Given the description of an element on the screen output the (x, y) to click on. 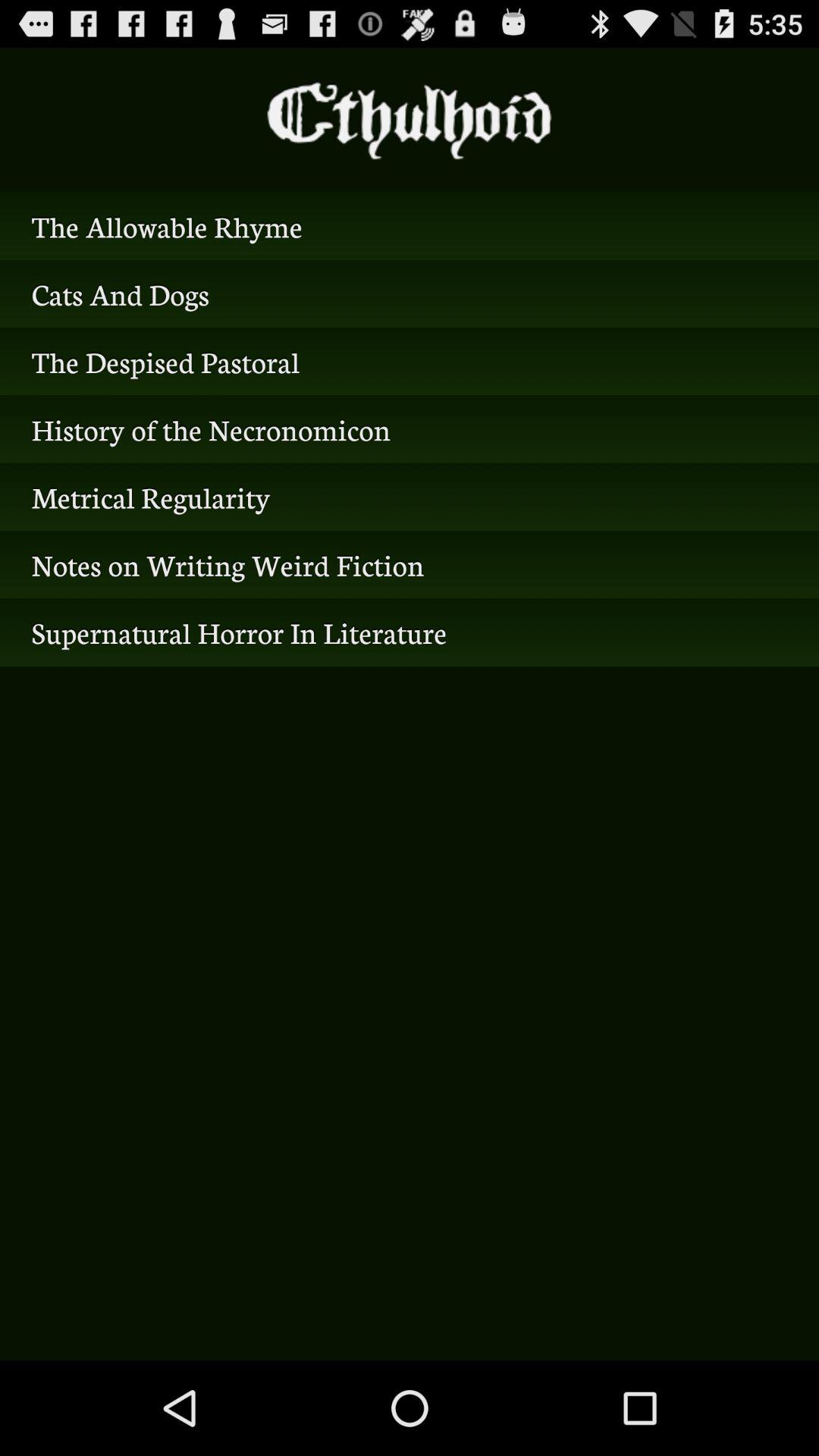
press item above cats and dogs icon (409, 226)
